Given the description of an element on the screen output the (x, y) to click on. 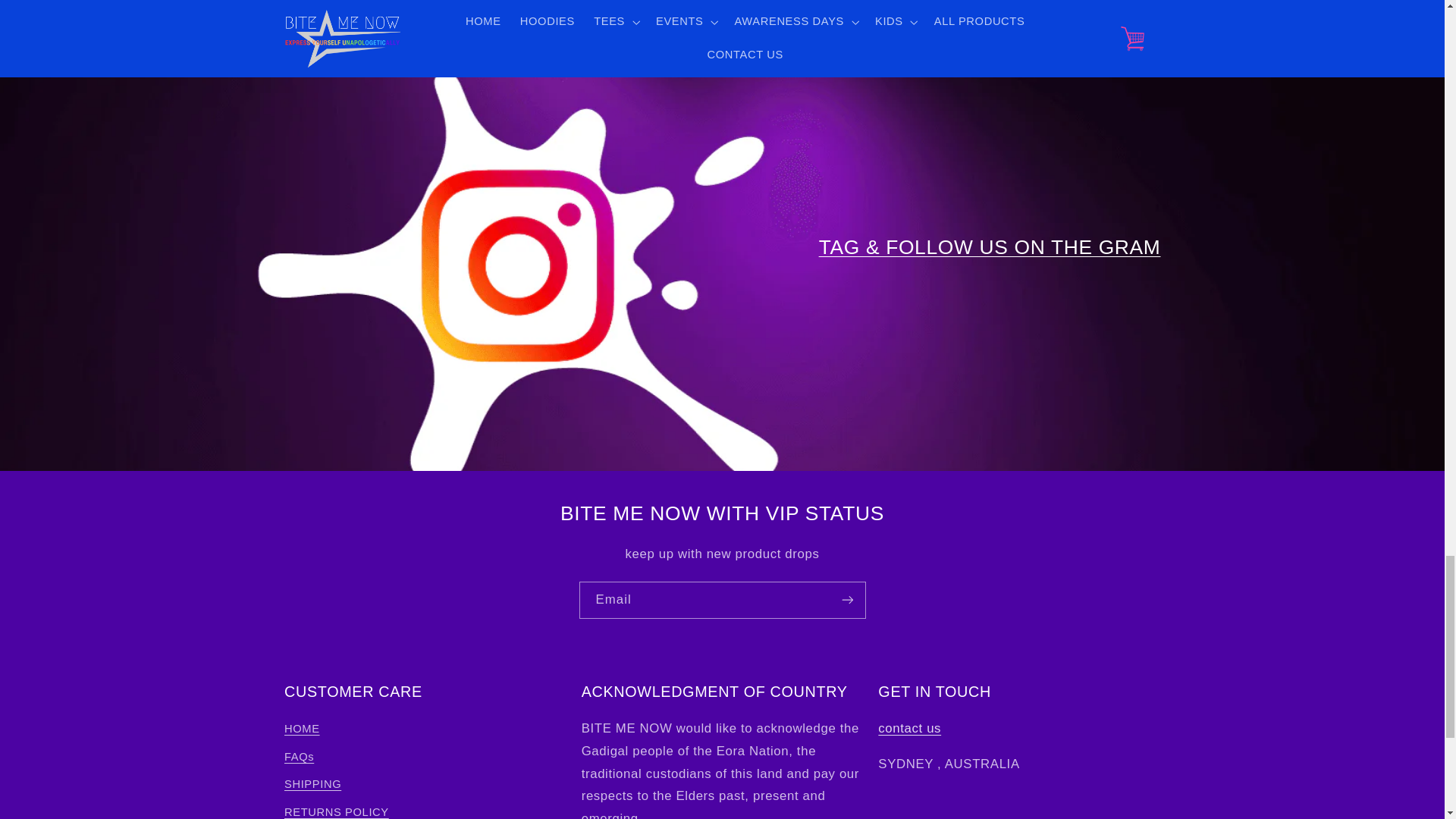
Bite Me Now - Instagram Profile (989, 246)
CONTACT BITE ME NOW (908, 728)
